Given the description of an element on the screen output the (x, y) to click on. 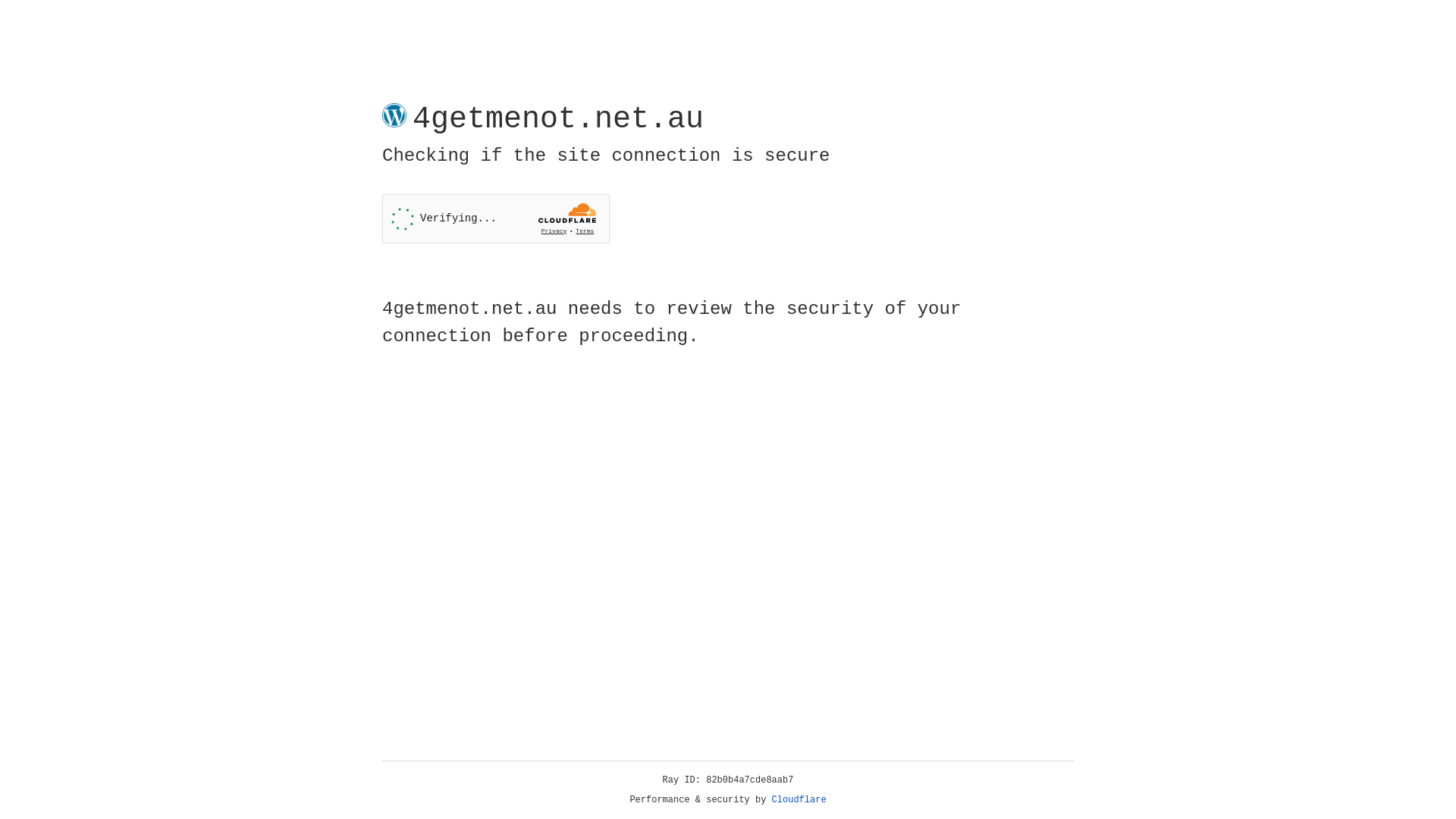
Cloudflare Element type: text (798, 799)
Widget containing a Cloudflare security challenge Element type: hover (495, 218)
